Given the description of an element on the screen output the (x, y) to click on. 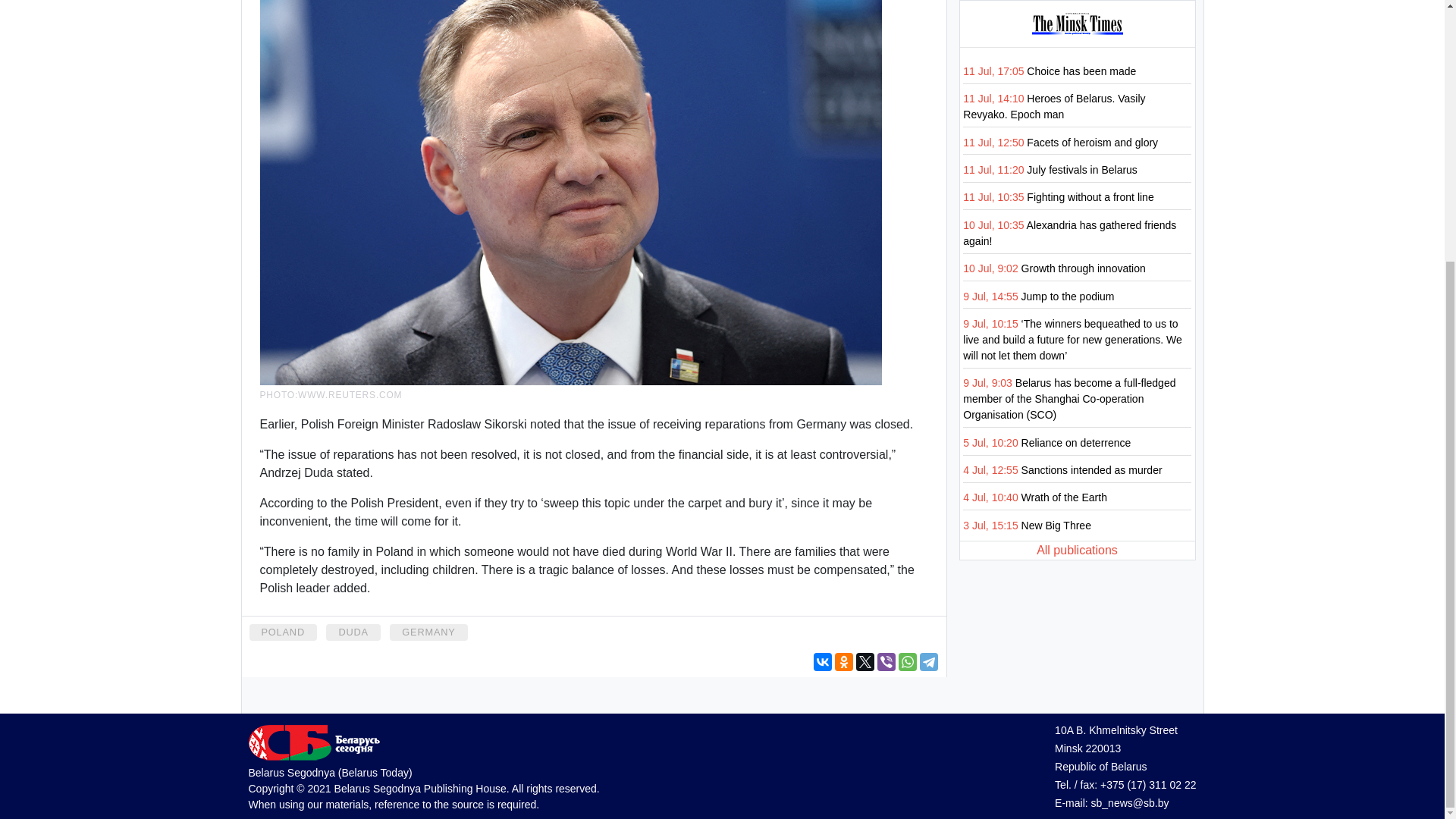
Viber (886, 661)
Telegram (928, 661)
WhatsApp (907, 661)
Twitter (865, 661)
